Given the description of an element on the screen output the (x, y) to click on. 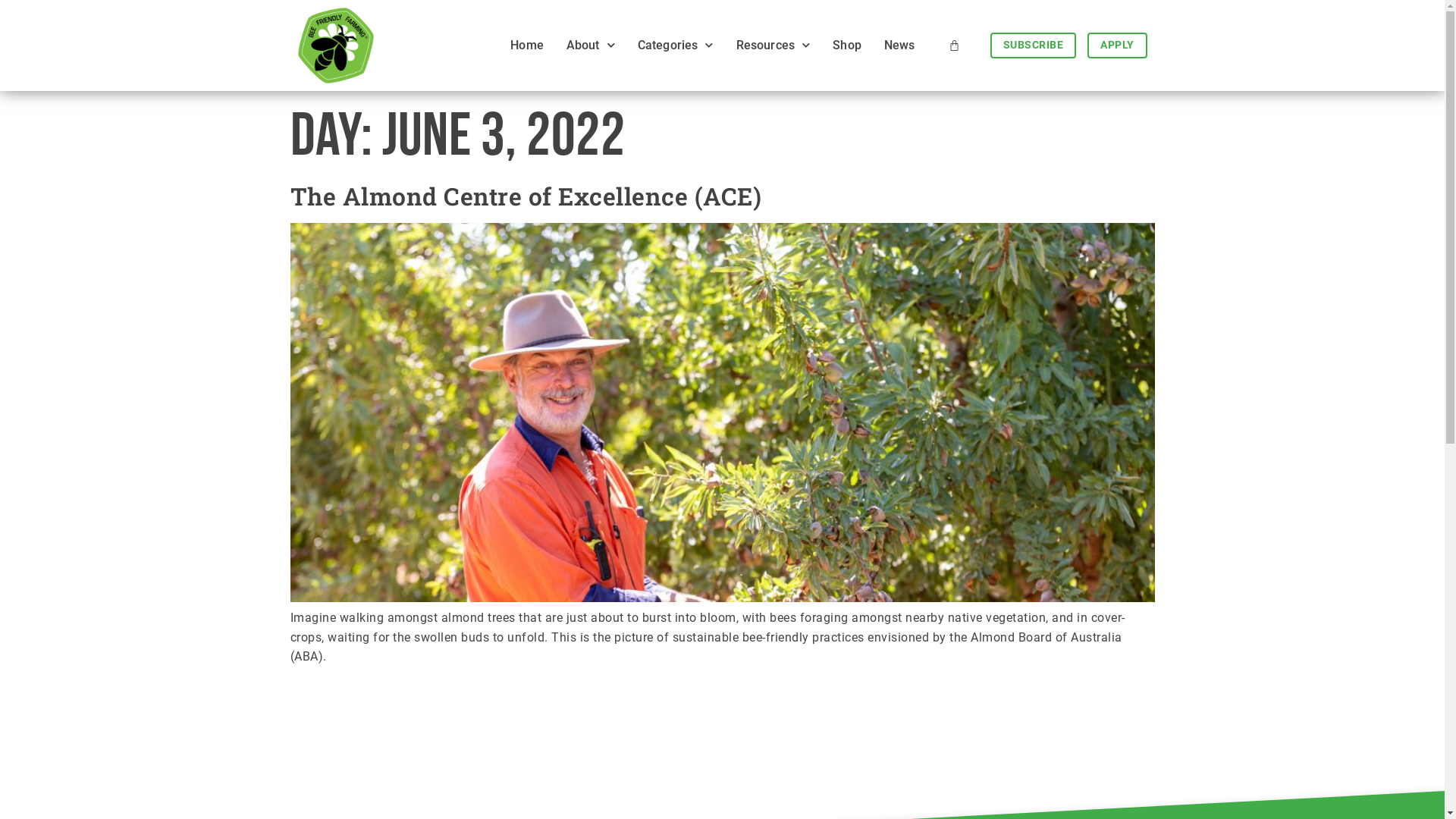
APPLY Element type: text (1117, 45)
The Almond Centre of Excellence (ACE) Element type: text (525, 195)
SUBSCRIBE Element type: text (1033, 45)
Categories Element type: text (675, 45)
Resources Element type: text (773, 45)
Shop Element type: text (846, 45)
News Element type: text (899, 45)
About Element type: text (590, 45)
Home Element type: text (526, 45)
